Given the description of an element on the screen output the (x, y) to click on. 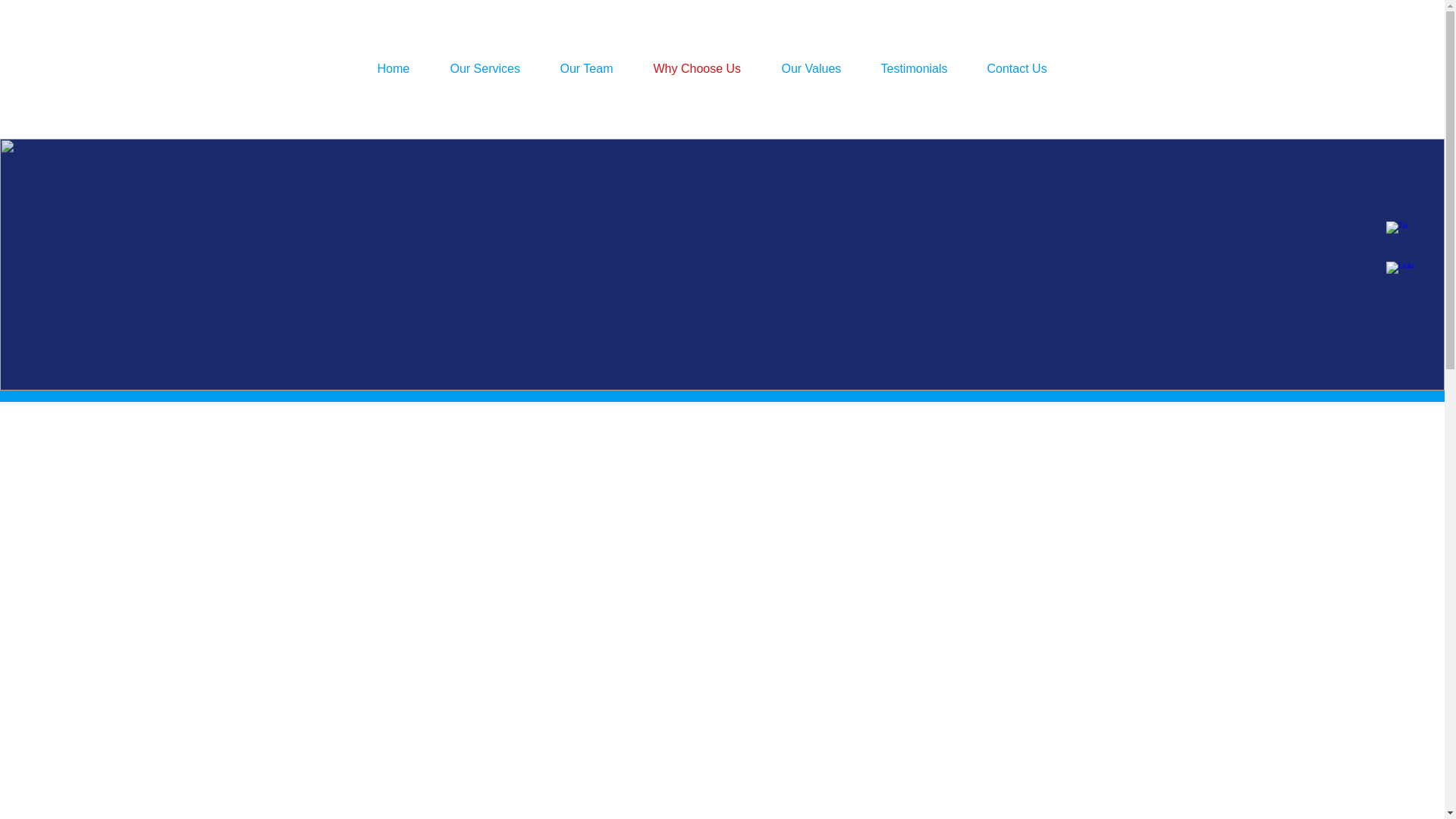
Why Choose Us (706, 68)
Our Team (595, 68)
Contact Us (1024, 68)
Our Services (493, 68)
Home (401, 68)
Testimonials (922, 68)
Our Values (819, 68)
